Given the description of an element on the screen output the (x, y) to click on. 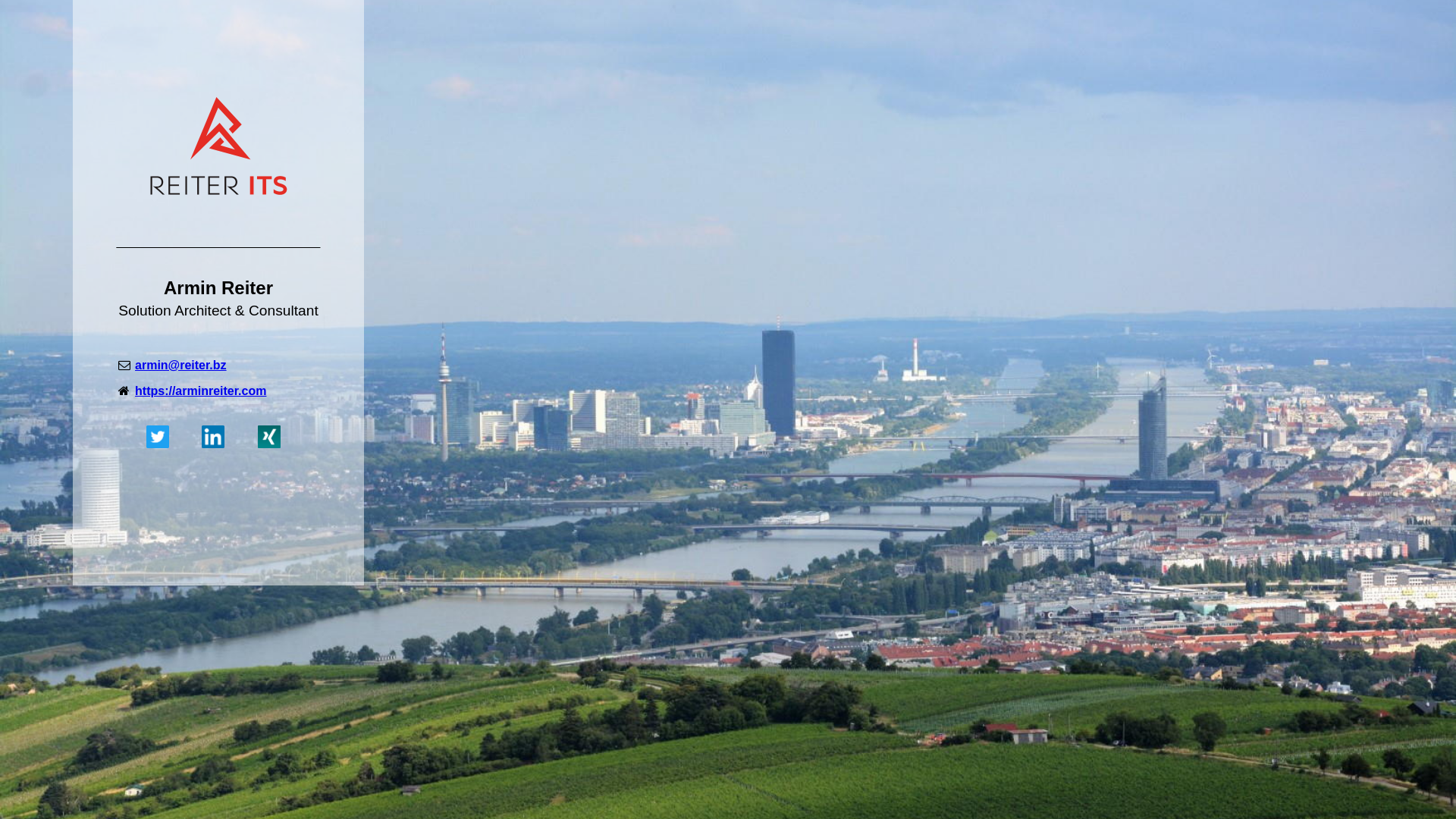
armin@reiter.bz Element type: text (180, 364)
https://arminreiter.com Element type: text (200, 390)
